Given the description of an element on the screen output the (x, y) to click on. 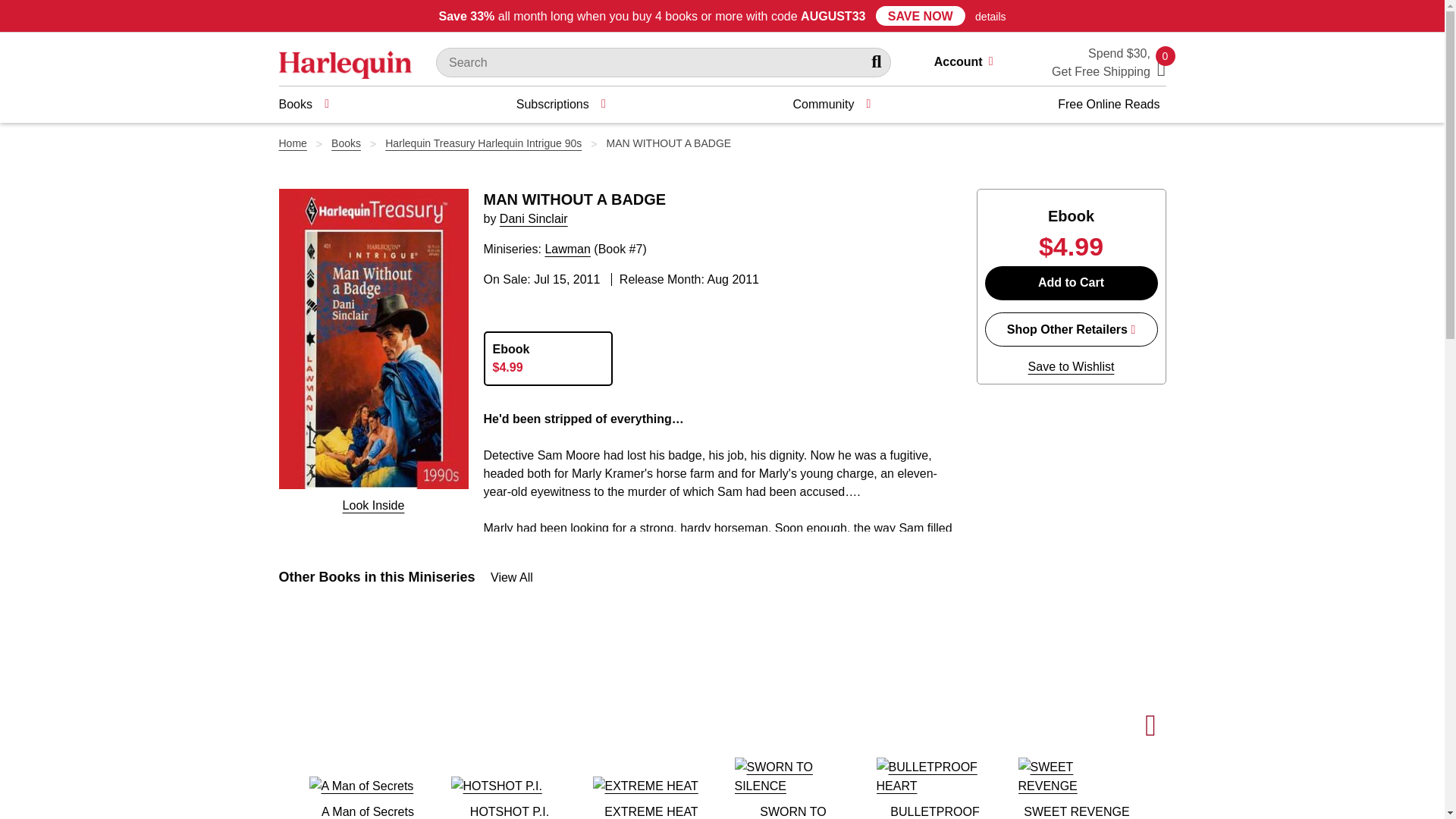
details (990, 16)
Books (304, 104)
Search for other content by Dani Sinclair (533, 218)
SAVE NOW (920, 15)
Harlequin home (345, 63)
Account (970, 63)
